Given the description of an element on the screen output the (x, y) to click on. 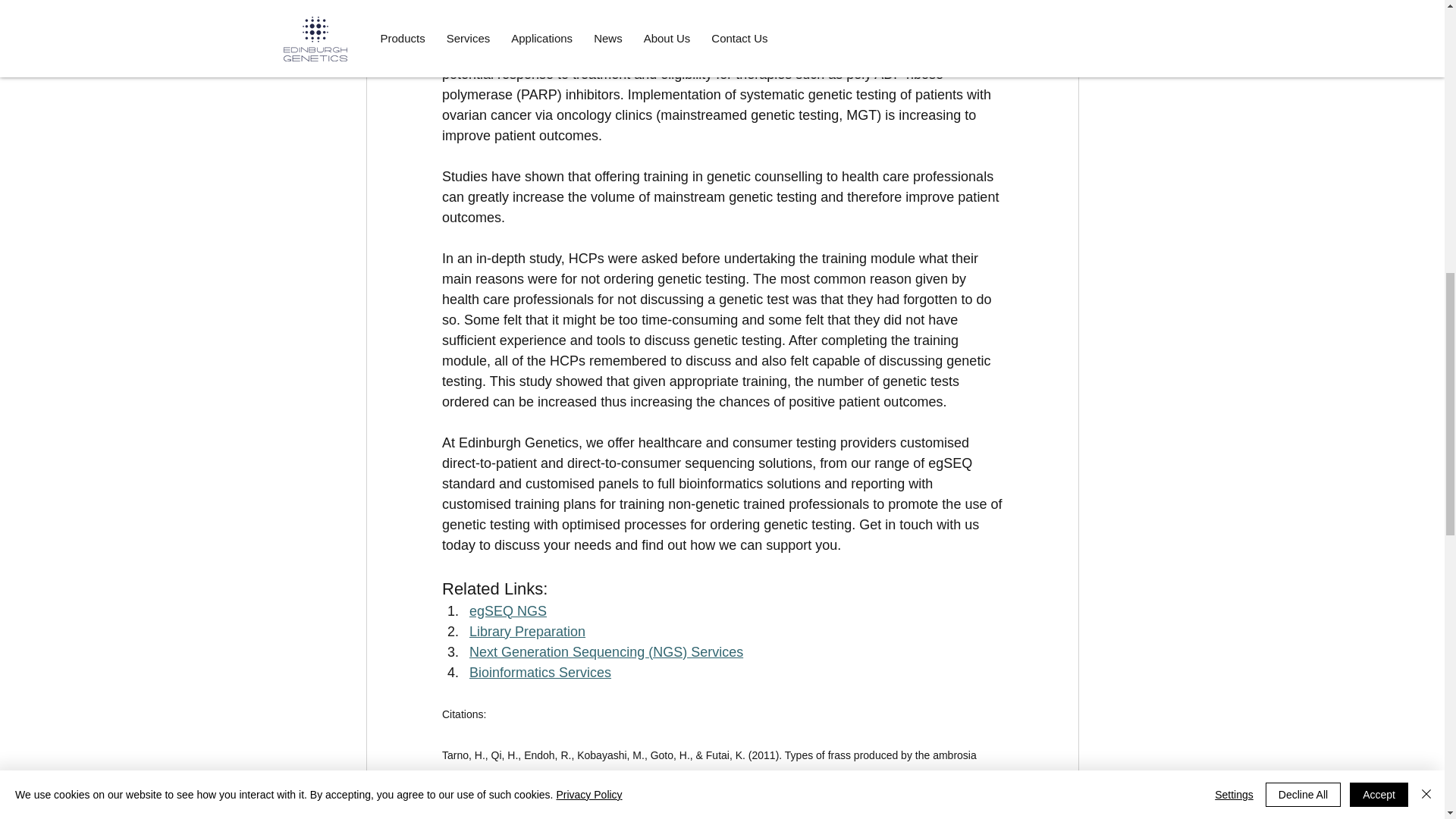
Library Preparation (526, 631)
Bioinformatics Services (539, 672)
egSEQ NGS (507, 611)
